Given the description of an element on the screen output the (x, y) to click on. 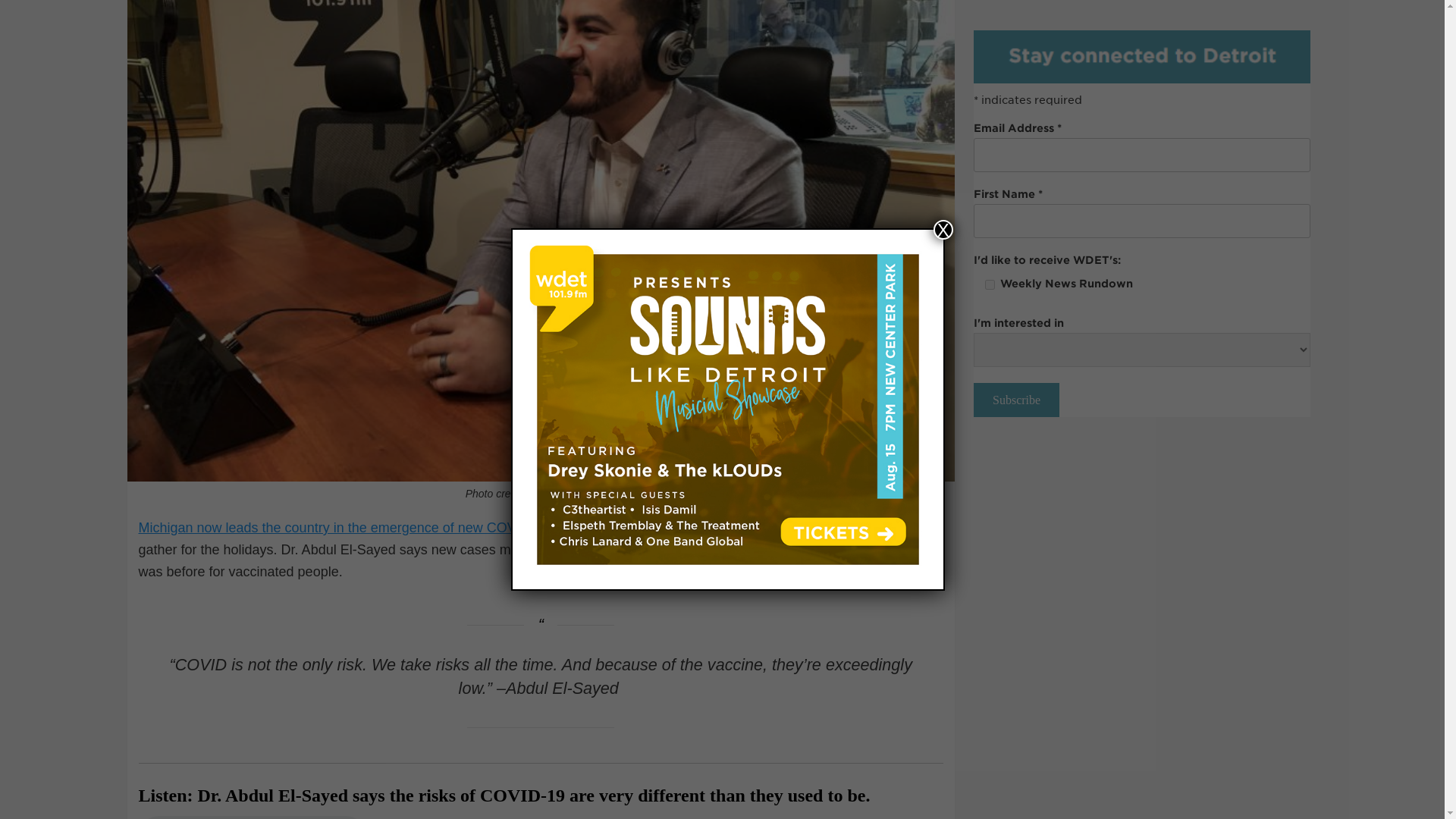
3rd party ad content (1142, 88)
